Given the description of an element on the screen output the (x, y) to click on. 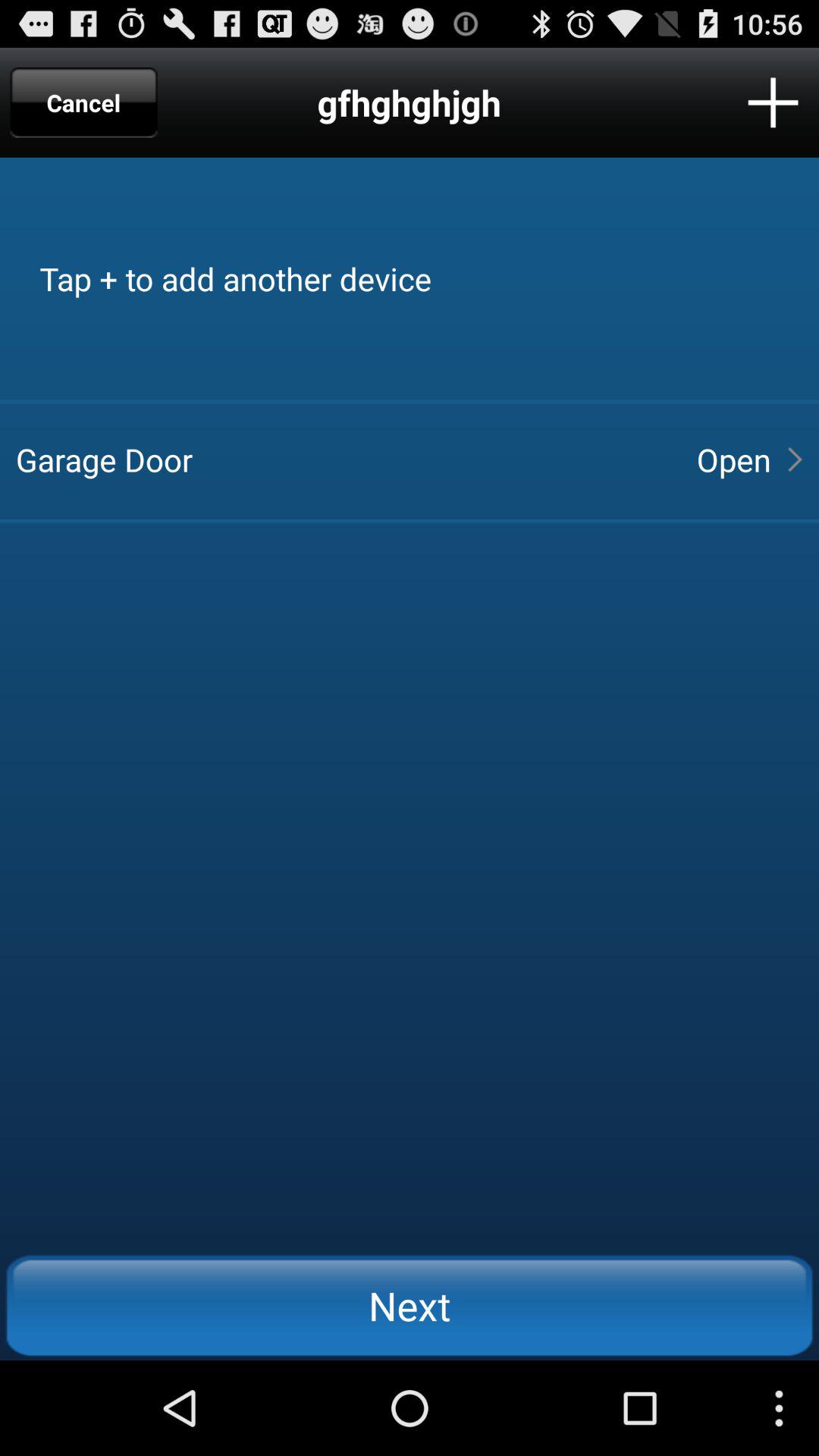
select the button at the top left corner (83, 102)
